Given the description of an element on the screen output the (x, y) to click on. 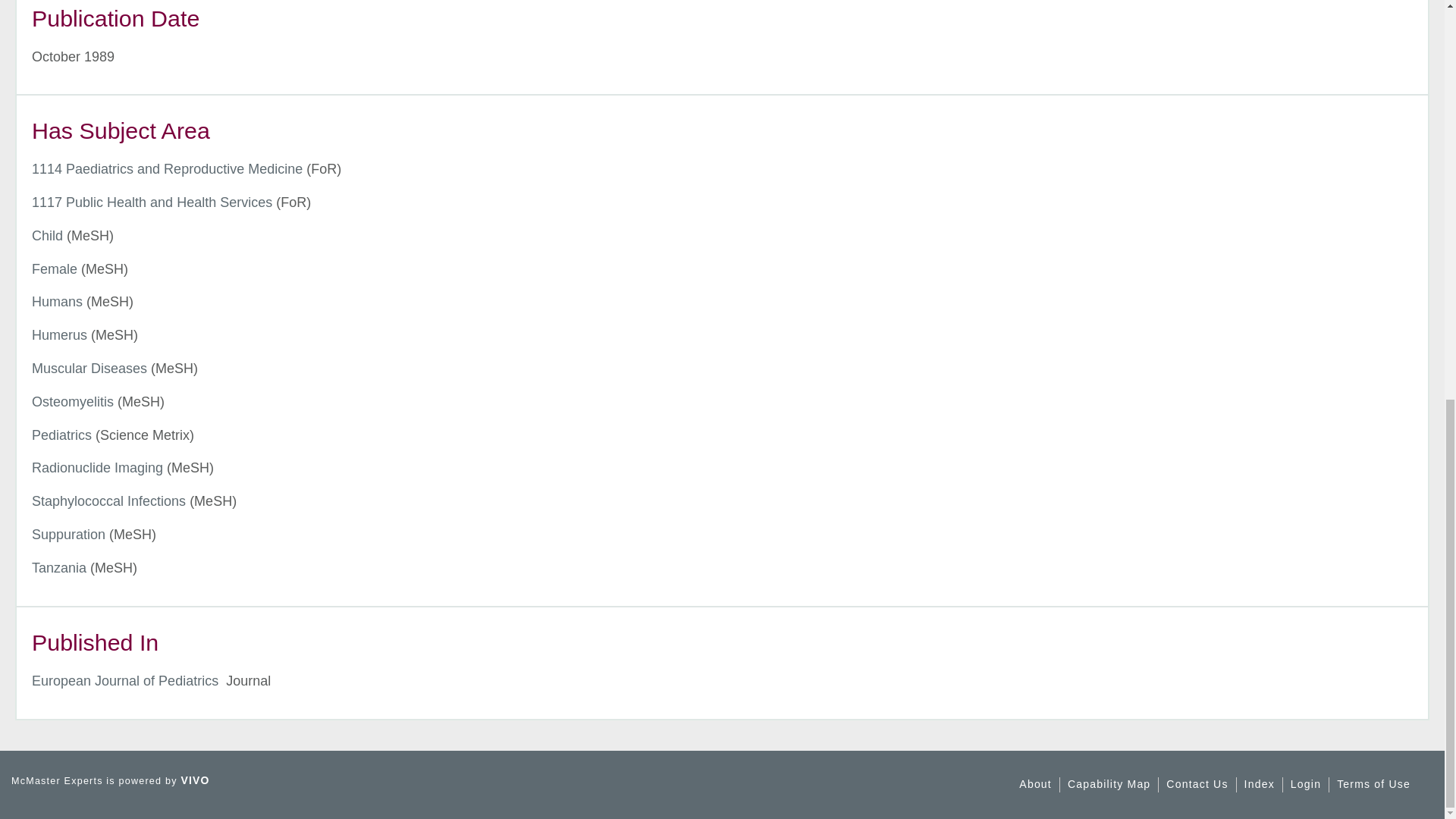
concept name (54, 268)
concept name (57, 301)
Login (1305, 784)
Tanzania (58, 567)
concept name (59, 335)
Radionuclide Imaging (97, 467)
Index (1259, 784)
Capability Map (1108, 784)
Terms of Use (1373, 784)
European Journal of Pediatrics (125, 680)
